Given the description of an element on the screen output the (x, y) to click on. 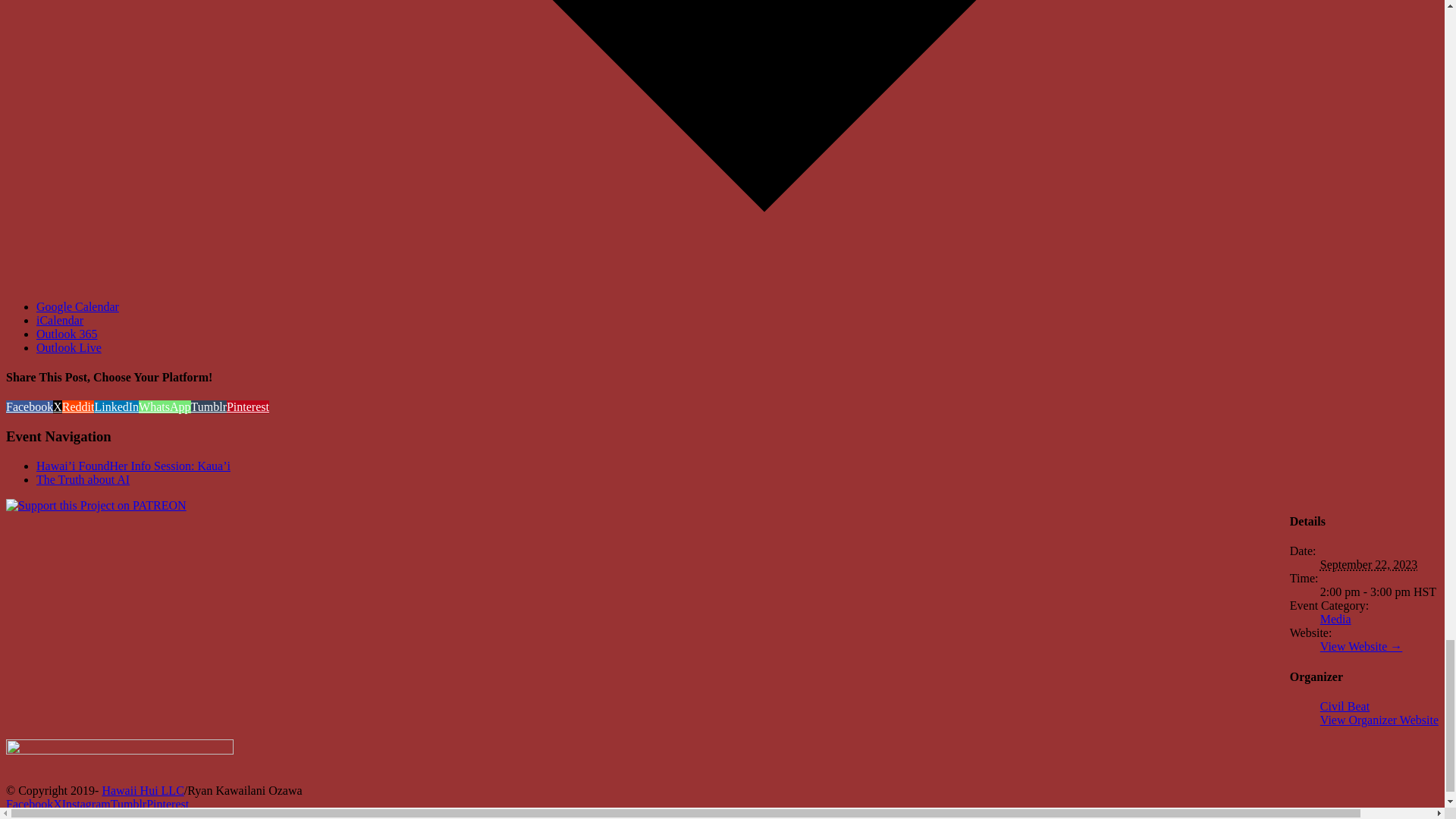
Facebook (28, 803)
WhatsApp (164, 406)
iCalendar (59, 319)
Outlook 365 (66, 333)
Google Calendar (77, 306)
LinkedIn (116, 406)
Civil Beat (1345, 706)
Tumblr (208, 406)
Civil Beat (1345, 706)
Pinterest (248, 406)
